Given the description of an element on the screen output the (x, y) to click on. 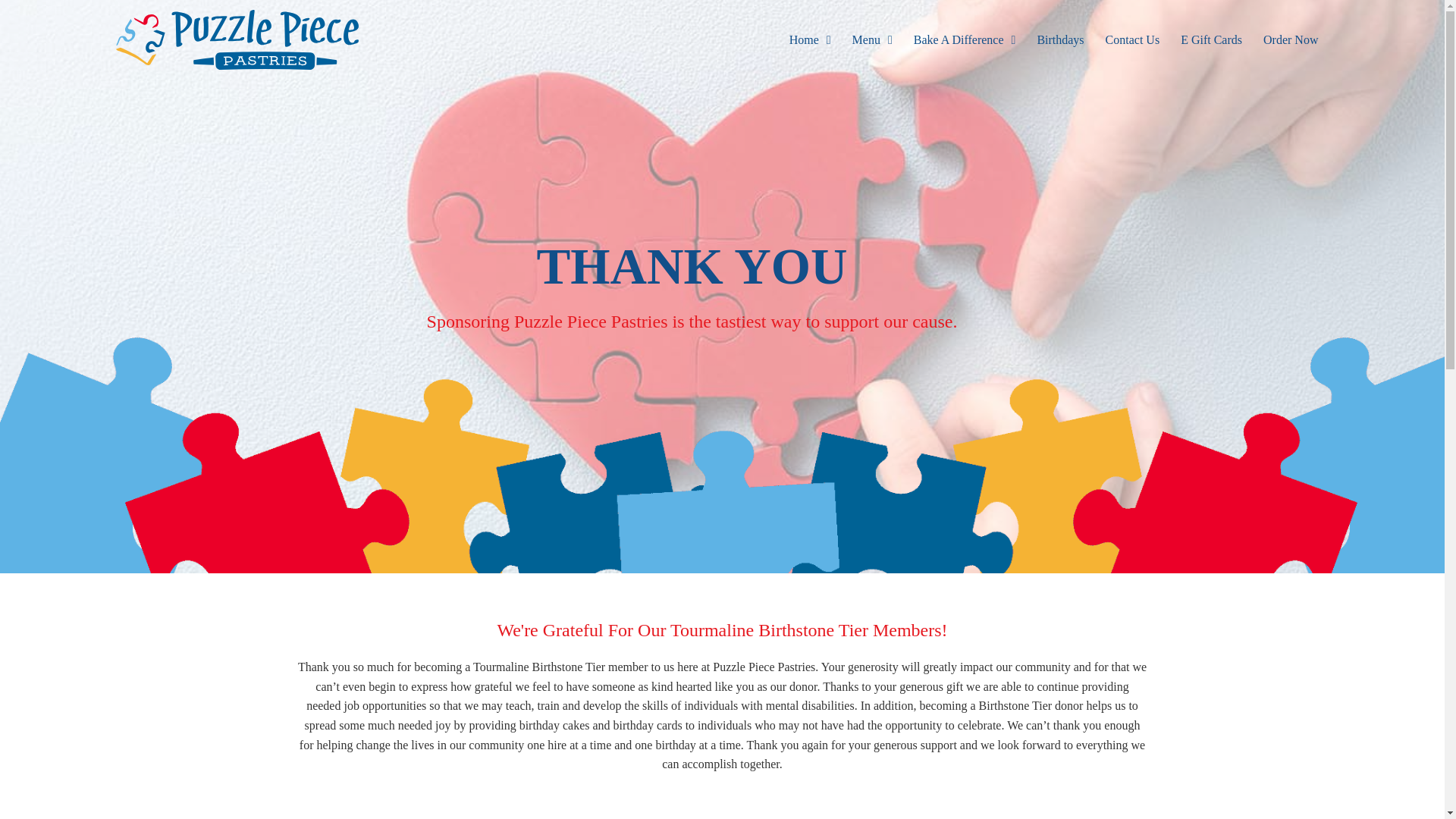
Bake A Difference (964, 39)
Birthdays (1060, 39)
Contact Us (1132, 39)
Order Now (1289, 39)
Menu (871, 39)
Home (809, 39)
E Gift Cards (1211, 39)
